Given the description of an element on the screen output the (x, y) to click on. 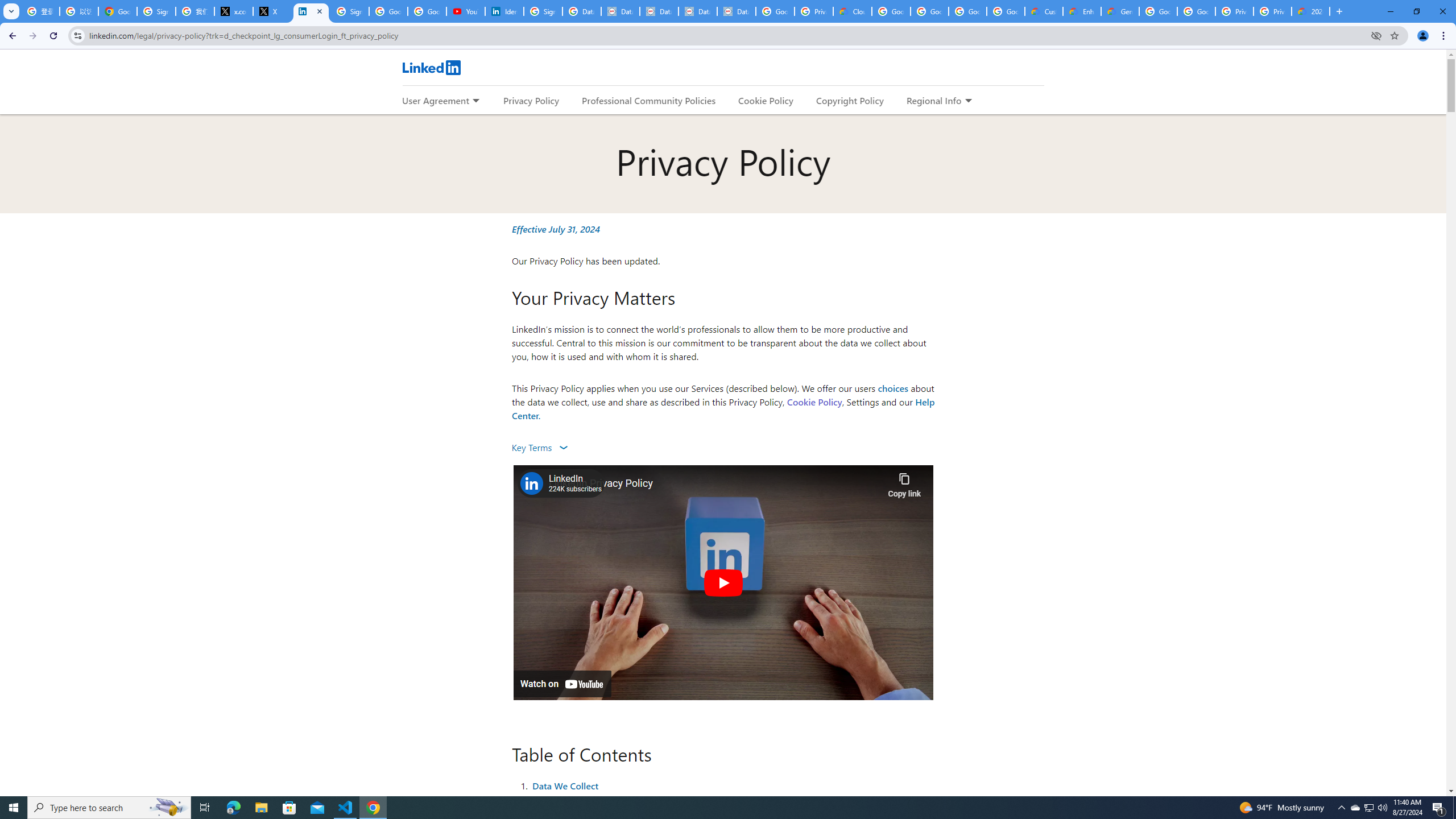
Regional Info (933, 100)
Sign in - Google Accounts (156, 11)
Google Cloud Platform (1158, 11)
Gemini for Business and Developers | Google Cloud (1120, 11)
Data Privacy Framework (659, 11)
Cloud Data Processing Addendum | Google Cloud (852, 11)
Data Privacy Framework (736, 11)
Expand to show more links for Regional Info (967, 101)
Copyright Policy (849, 100)
X (272, 11)
Sign in - Google Accounts (542, 11)
